Given the description of an element on the screen output the (x, y) to click on. 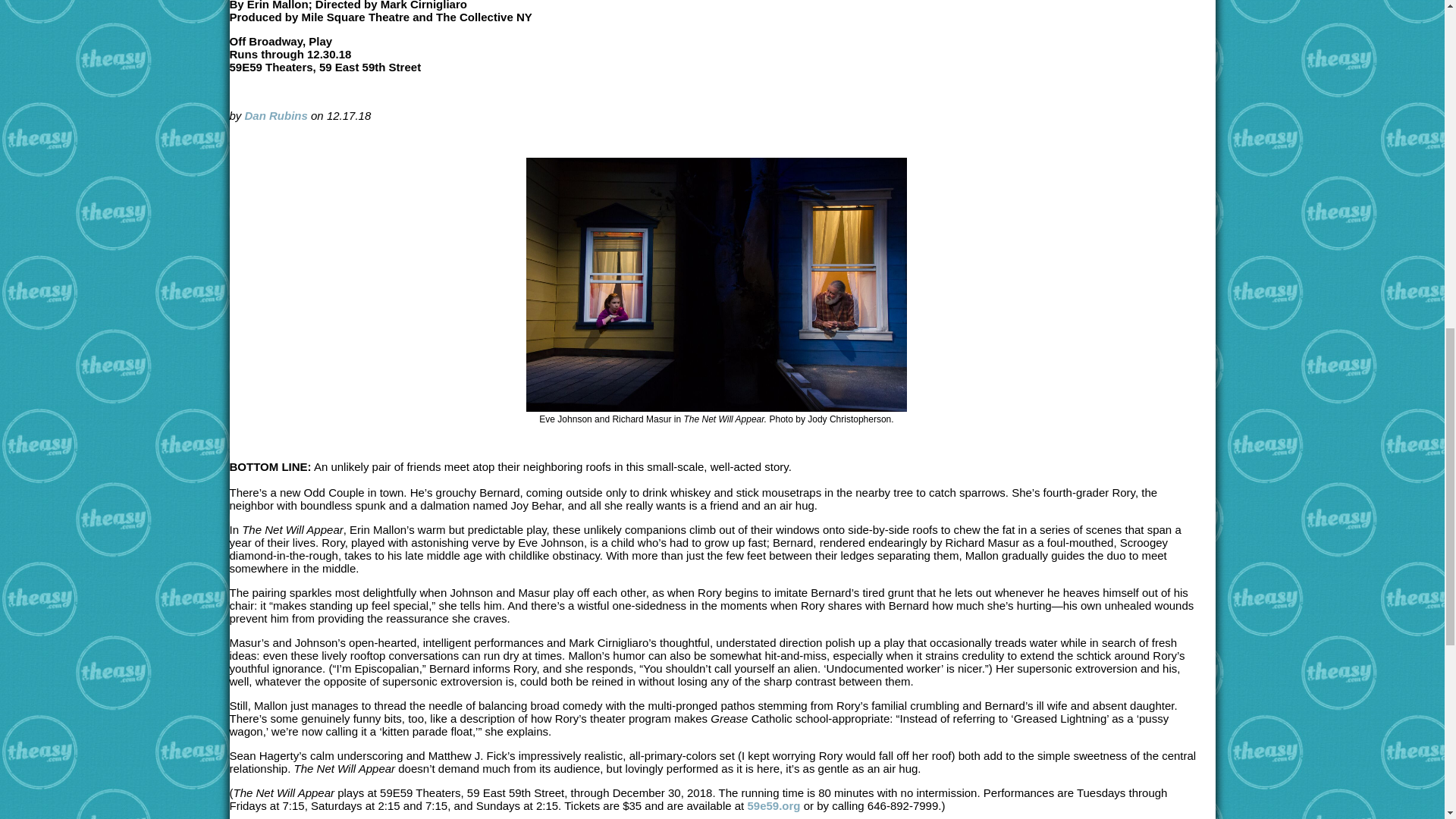
59e59.org (772, 805)
Dan Rubins (275, 115)
